Given the description of an element on the screen output the (x, y) to click on. 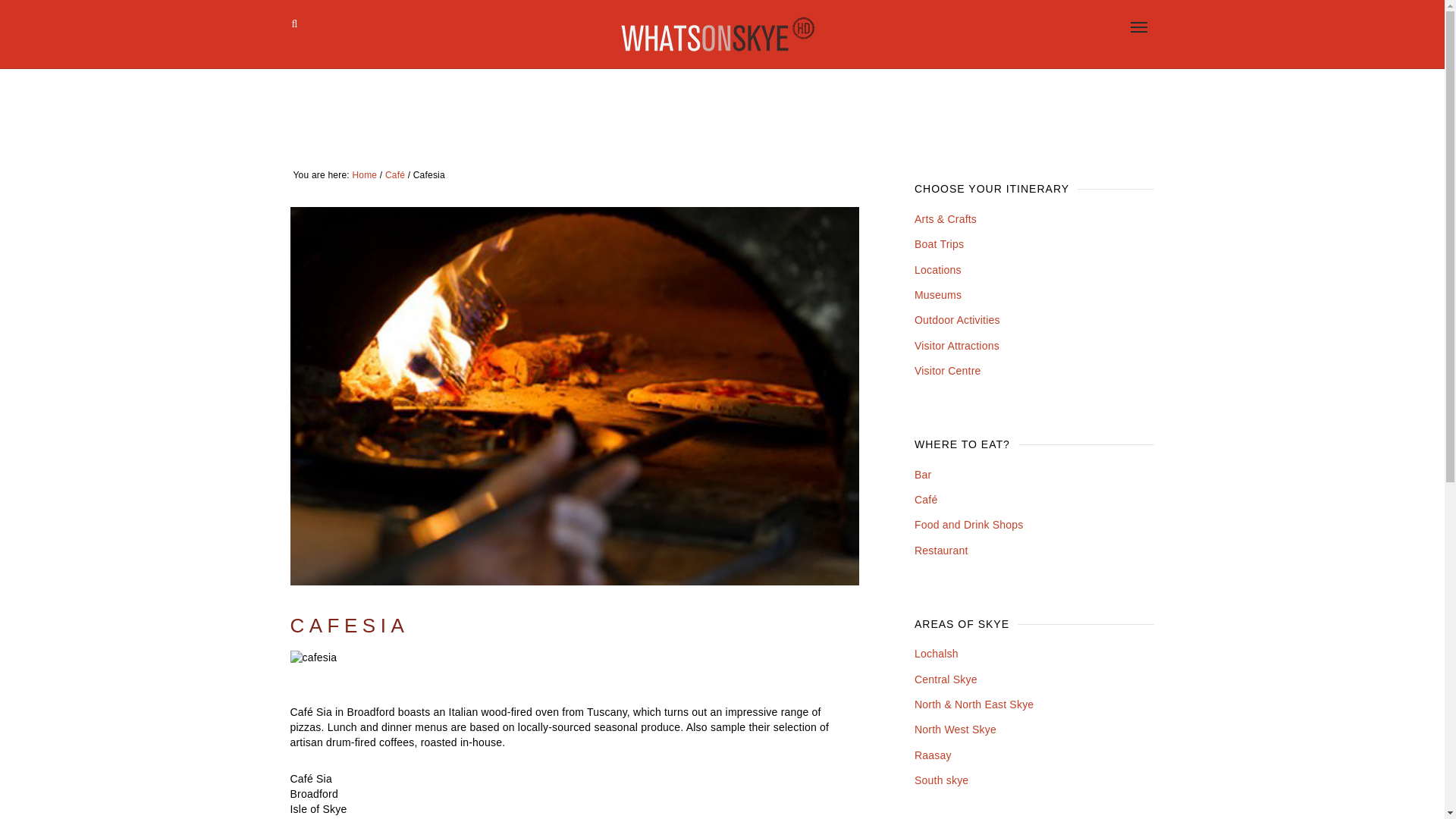
Lochalsh (936, 653)
Home (364, 174)
Locations (937, 269)
Raasay (933, 755)
Central Skye (945, 679)
Museums (937, 295)
What's on Skye (717, 34)
Outdoor Activities (957, 319)
Restaurant (941, 550)
Boat Trips (938, 244)
Food and Drink Shops (968, 524)
South skye (941, 779)
North West Skye (954, 729)
Bar (922, 474)
Toggle navigation (1138, 27)
